Given the description of an element on the screen output the (x, y) to click on. 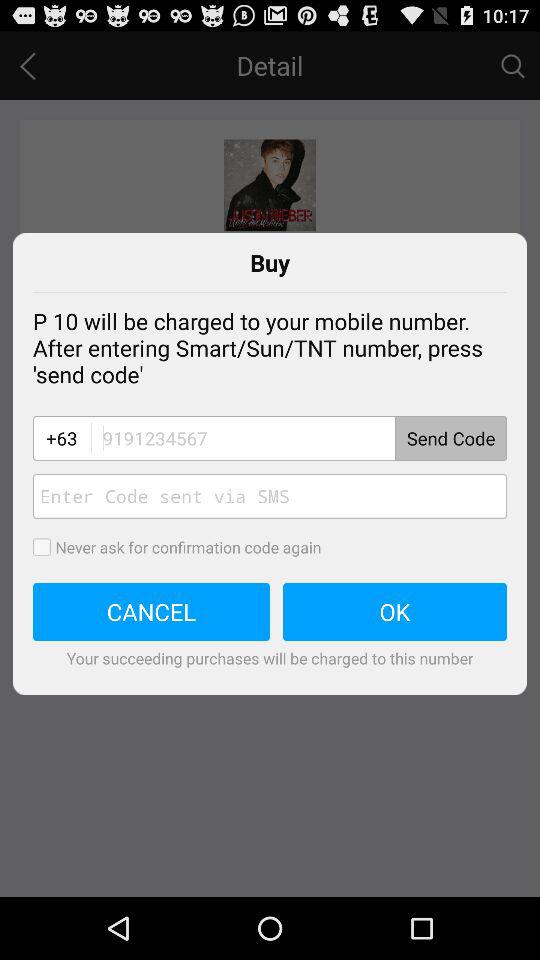
enter sms code (270, 496)
